Given the description of an element on the screen output the (x, y) to click on. 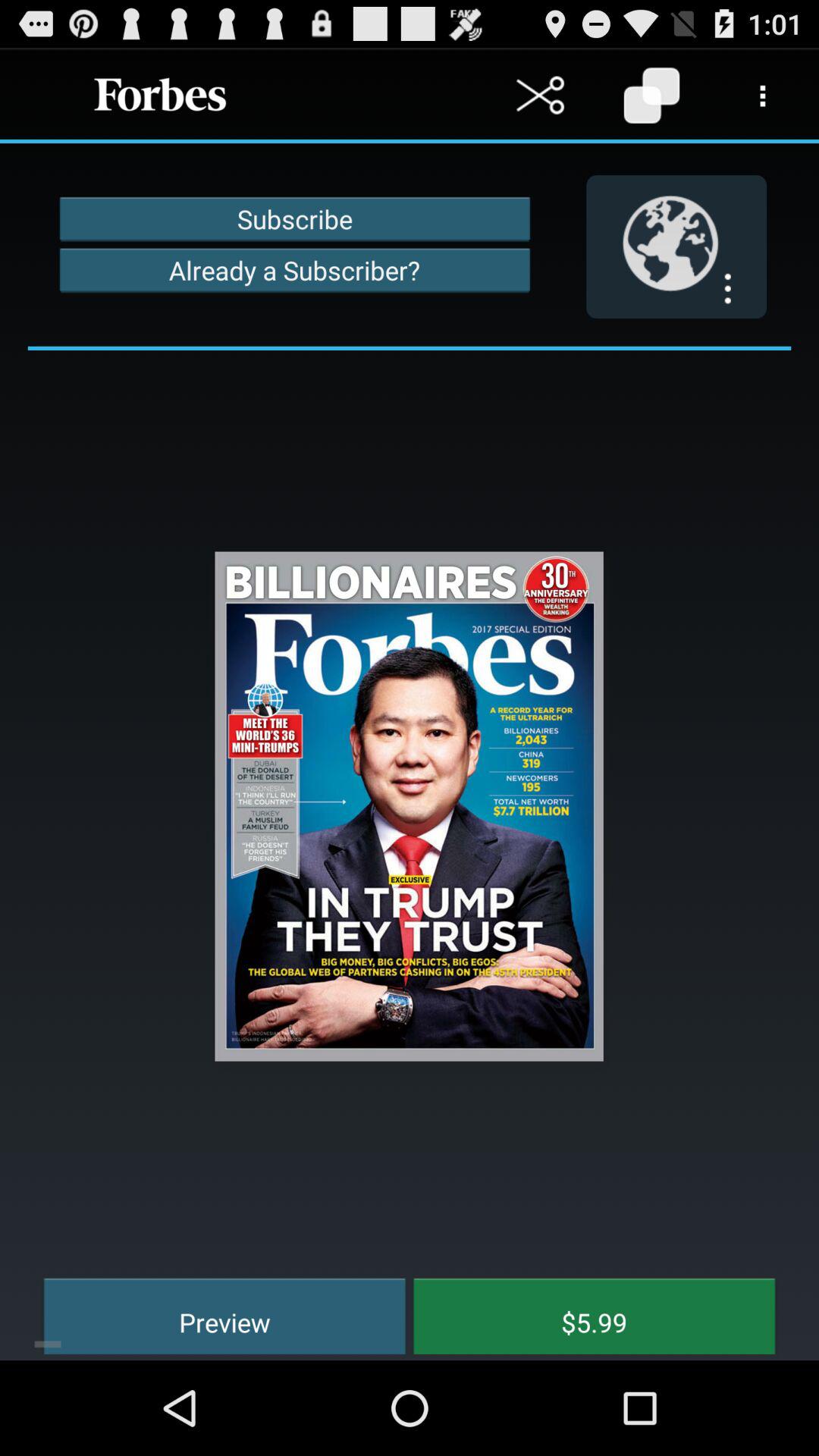
press the icon to the right of the subscribe (676, 246)
